Given the description of an element on the screen output the (x, y) to click on. 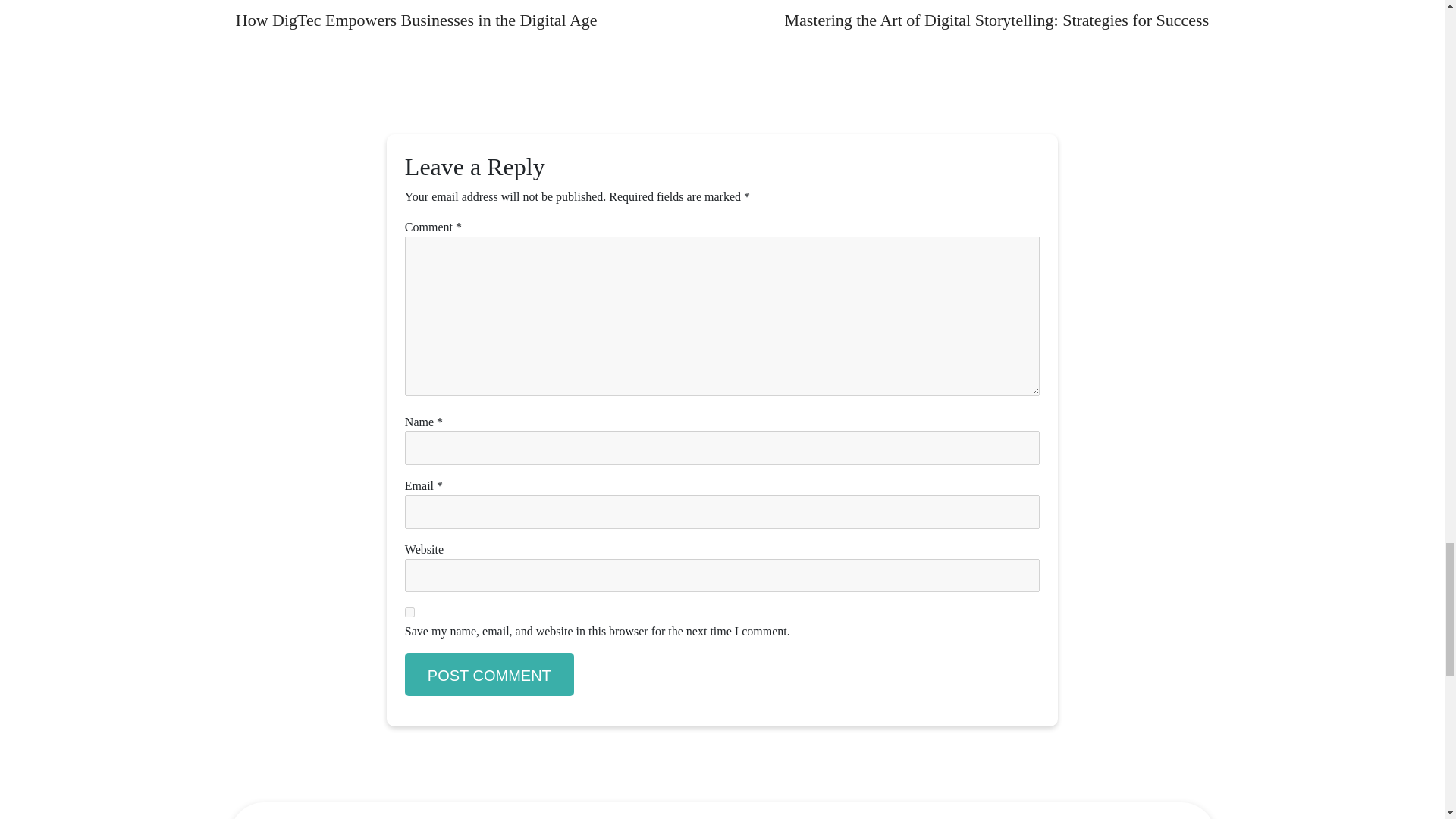
Post Comment (488, 674)
yes (409, 612)
